Given the description of an element on the screen output the (x, y) to click on. 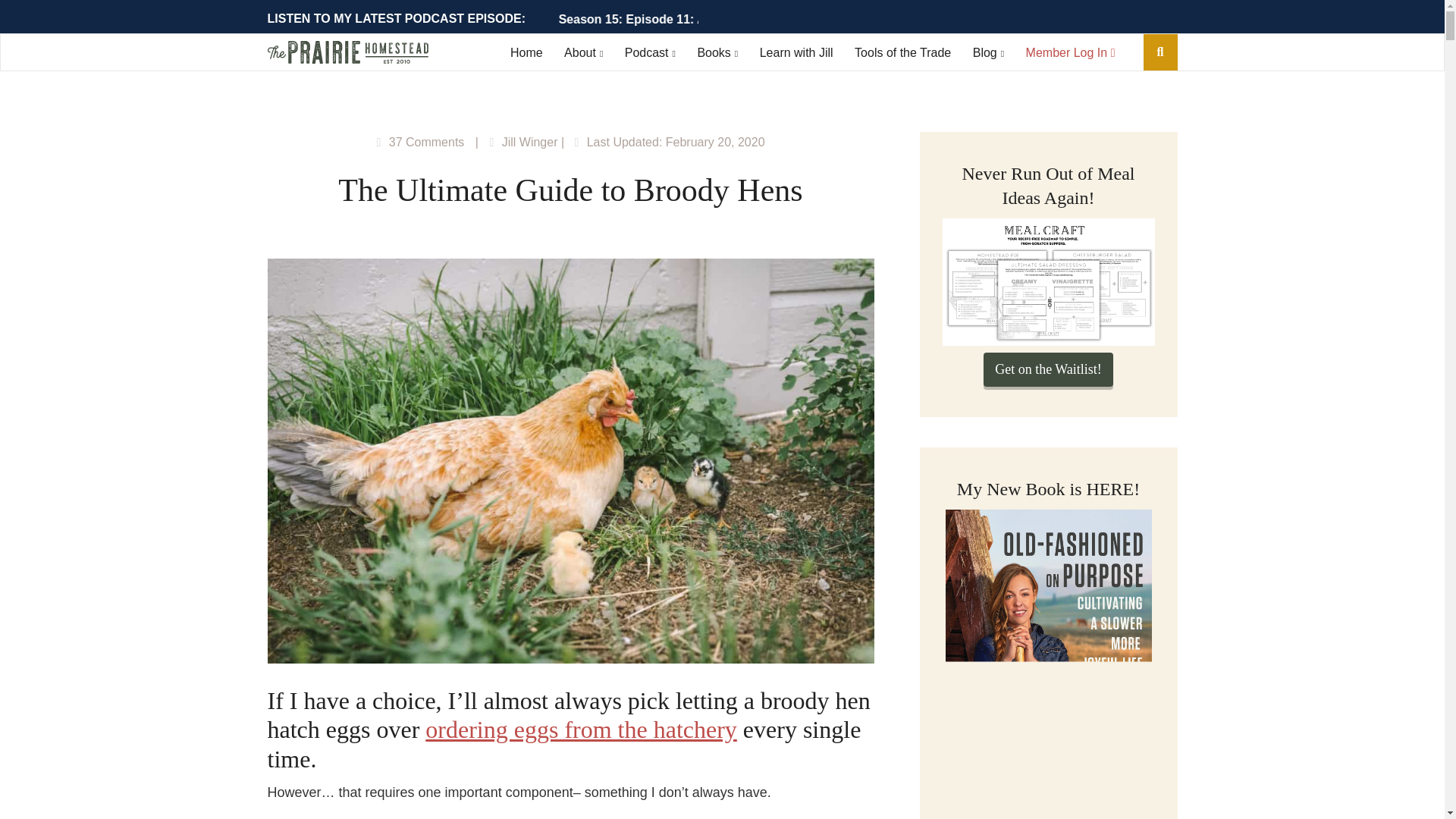
About (583, 52)
Podcast (649, 52)
ordering eggs from the hatchery (580, 728)
Jill Winger (529, 141)
Member Log In (1070, 52)
Home (527, 52)
The Prairie Homestead (347, 53)
Learn with Jill (796, 52)
Tools of the Trade (902, 52)
